Given the description of an element on the screen output the (x, y) to click on. 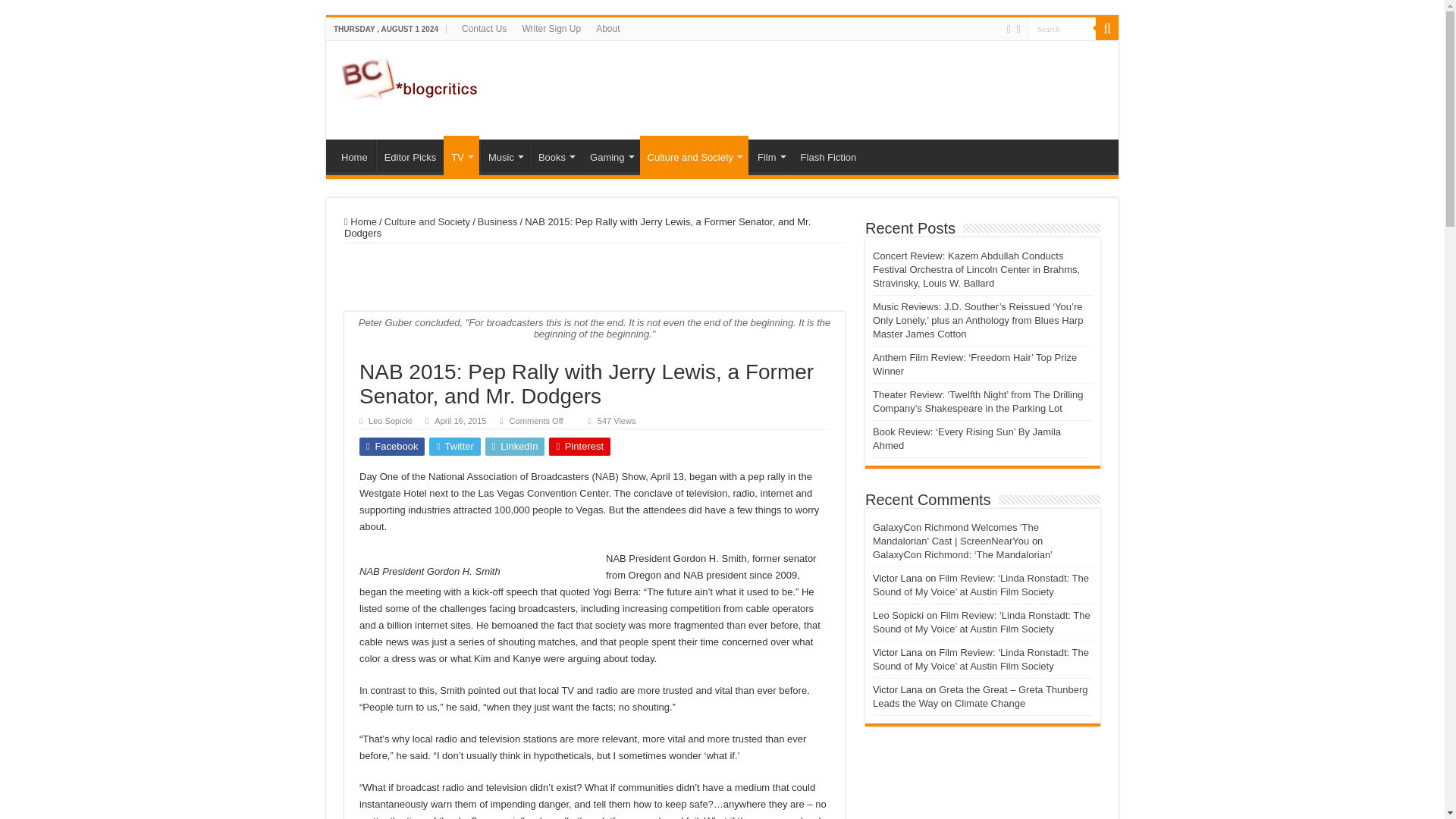
Search (1107, 28)
Home (354, 155)
Search (1061, 28)
Search (1061, 28)
Search (1061, 28)
Blogcritics (409, 75)
About (607, 28)
Editor Picks (409, 155)
Books (554, 155)
Culture and Society (694, 155)
Music (504, 155)
Gaming (610, 155)
TV (461, 155)
NAB Show site (605, 476)
Contact Us (483, 28)
